Given the description of an element on the screen output the (x, y) to click on. 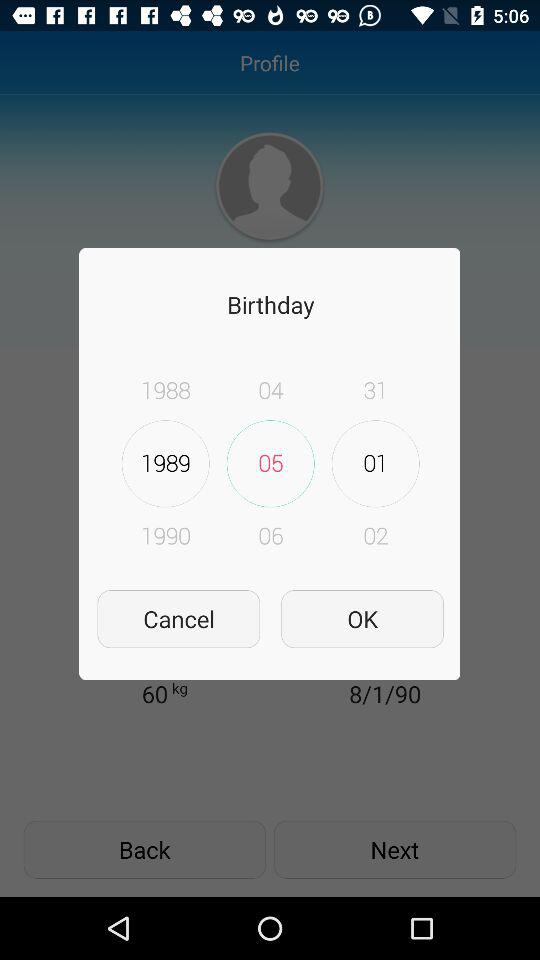
select ok icon (362, 618)
